Given the description of an element on the screen output the (x, y) to click on. 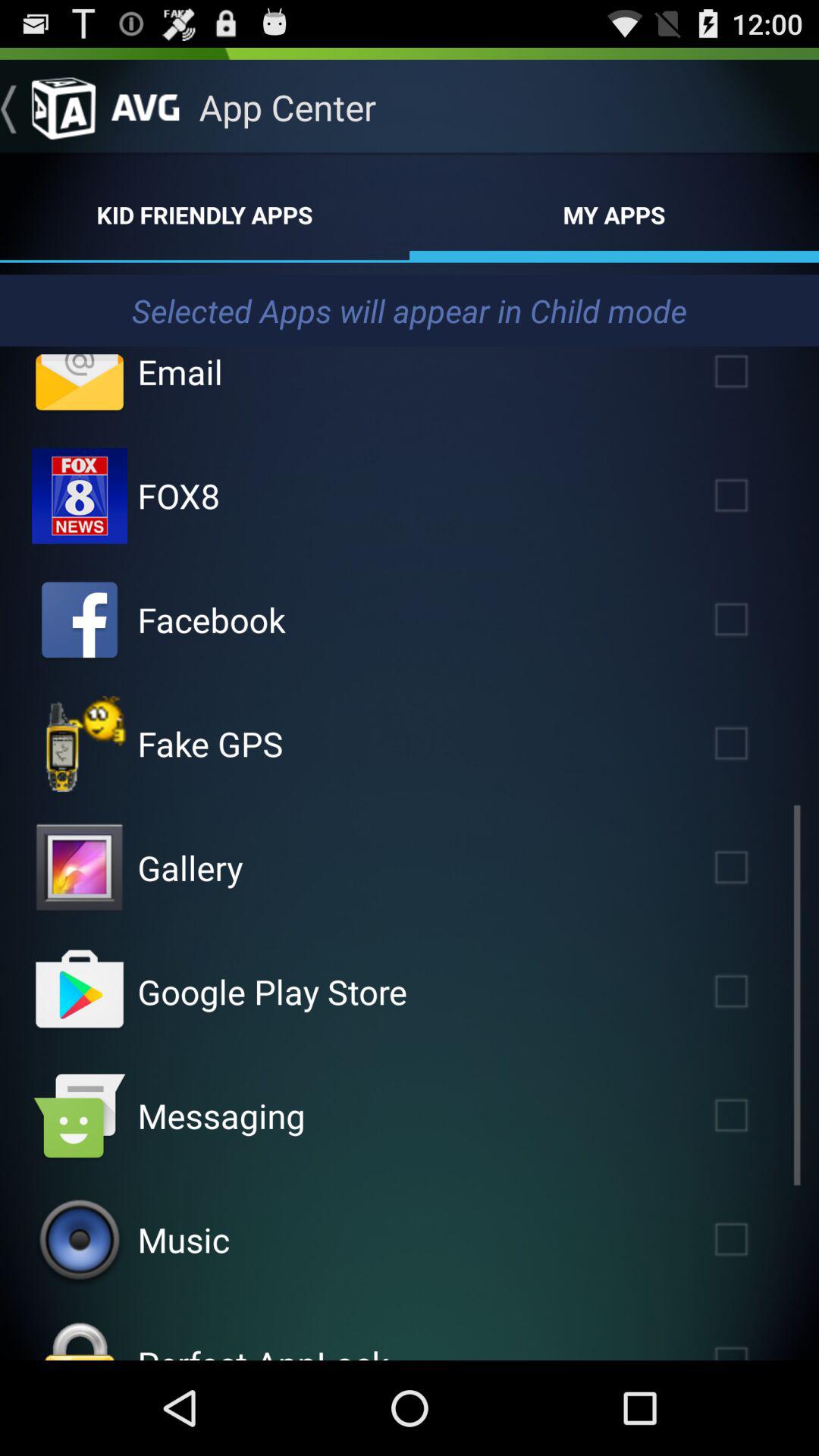
activate fox8 icon (79, 495)
